Given the description of an element on the screen output the (x, y) to click on. 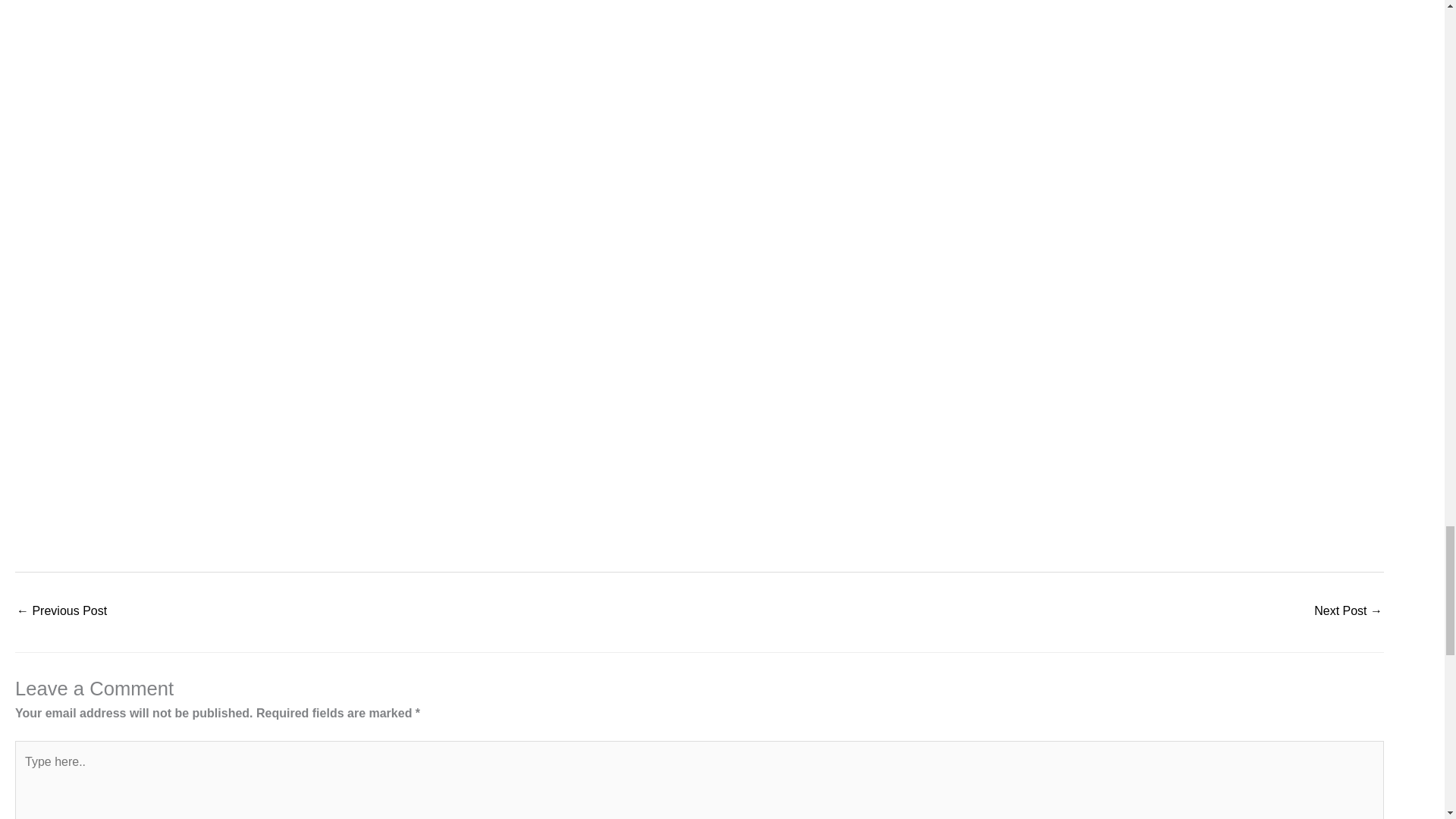
Peter the Pumpkin Patch Mouse (1347, 612)
Enzo the Pizza Making Mouse (61, 612)
